Given the description of an element on the screen output the (x, y) to click on. 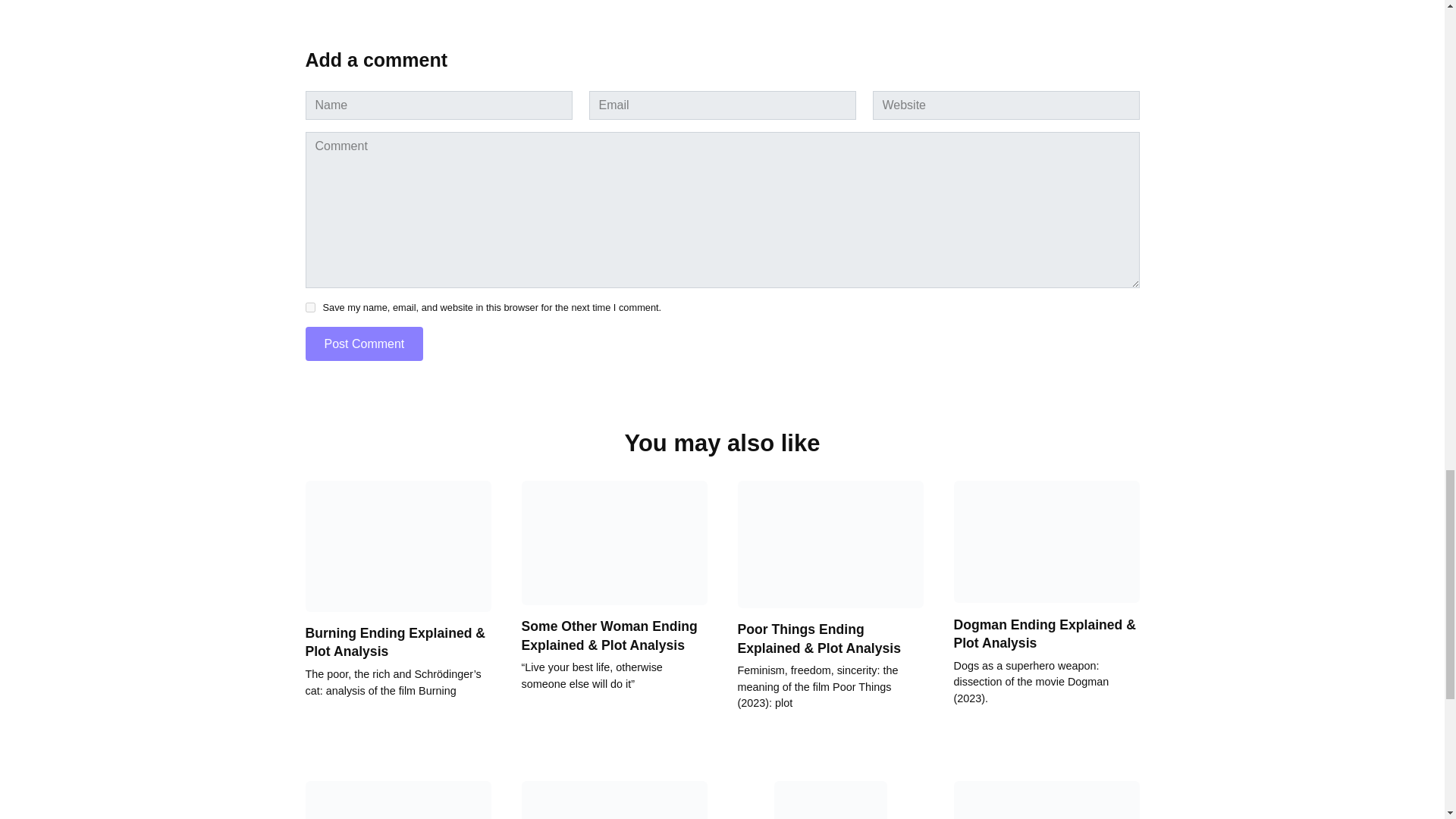
Post Comment (363, 343)
Post Comment (363, 343)
yes (309, 307)
